Given the description of an element on the screen output the (x, y) to click on. 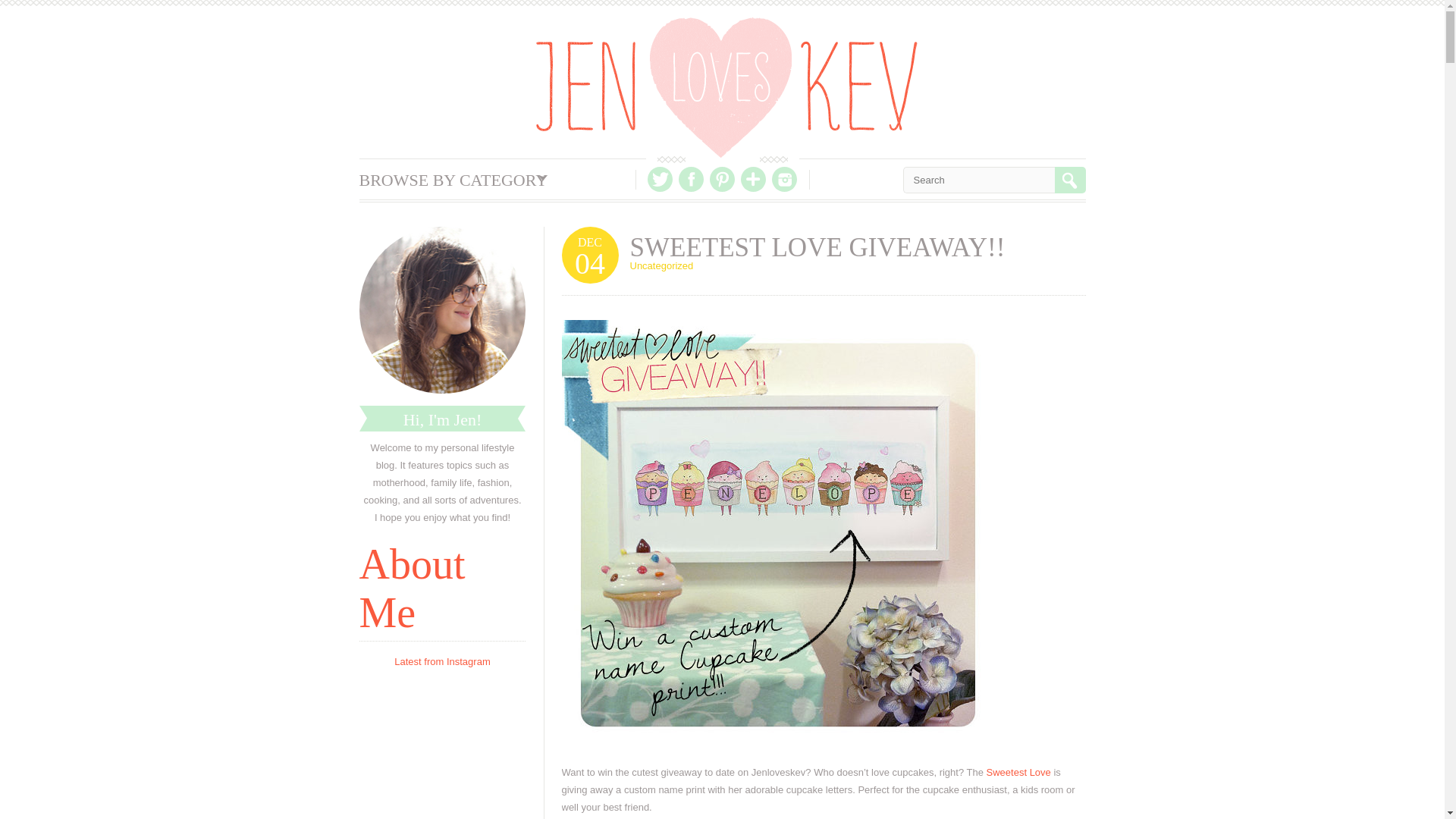
Permalink to Sweetest Love Giveaway!! (816, 247)
search (1069, 180)
Bloglovin (753, 179)
Sweetest Love (1019, 772)
Twitter (659, 179)
Facebook (690, 179)
BROWSE BY CATEGORY (453, 179)
Jen Loves Kev (726, 87)
SWEETEST LOVE GIVEAWAY!! (816, 247)
search (1069, 180)
Uncategorized (660, 265)
Pinterest (722, 179)
Instagram (783, 179)
Jen Loves Kev (726, 87)
